Given the description of an element on the screen output the (x, y) to click on. 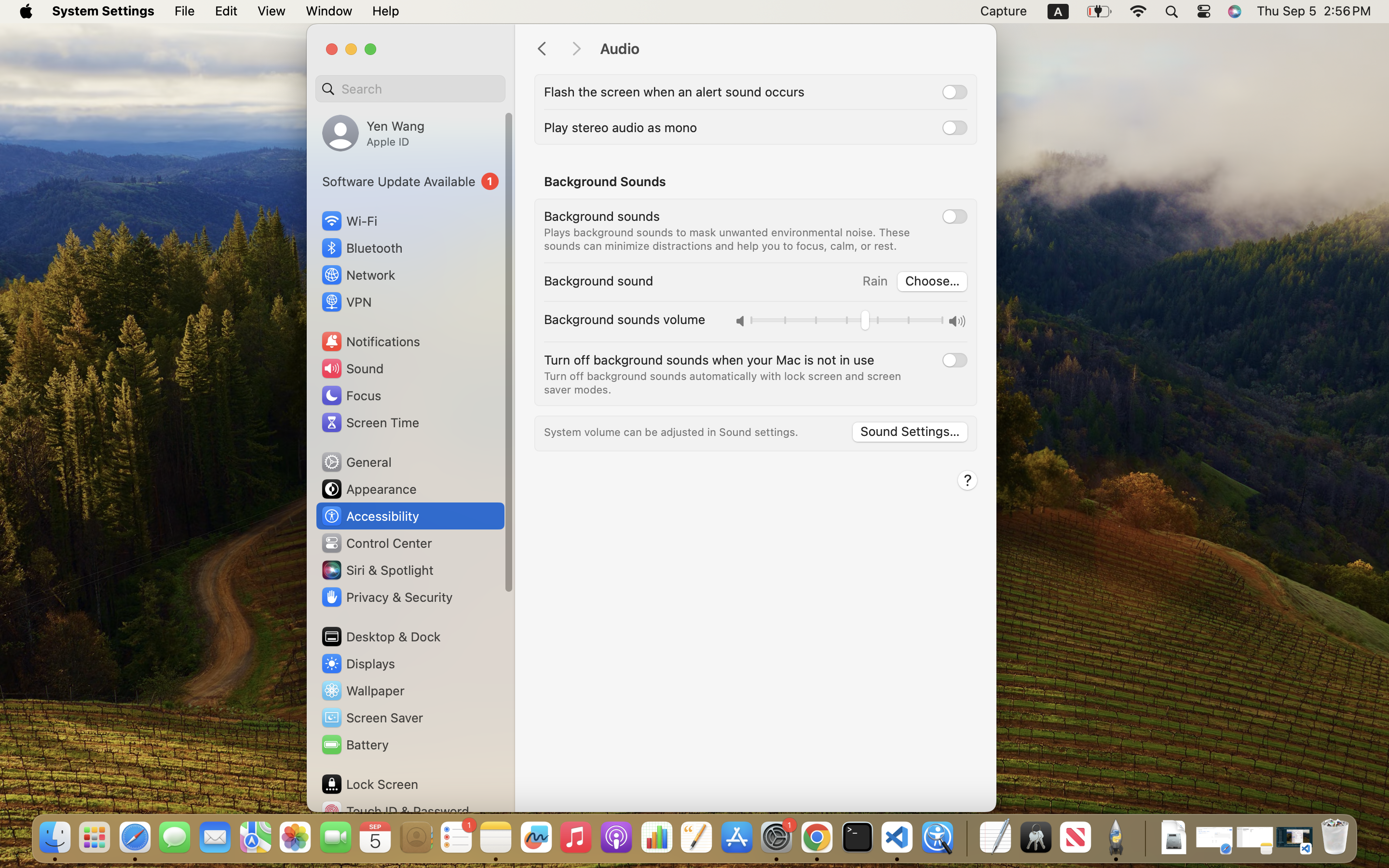
Focus Element type: AXStaticText (350, 394)
Bluetooth Element type: AXStaticText (361, 247)
Sound Element type: AXStaticText (351, 367)
Screen Saver Element type: AXStaticText (371, 717)
